Given the description of an element on the screen output the (x, y) to click on. 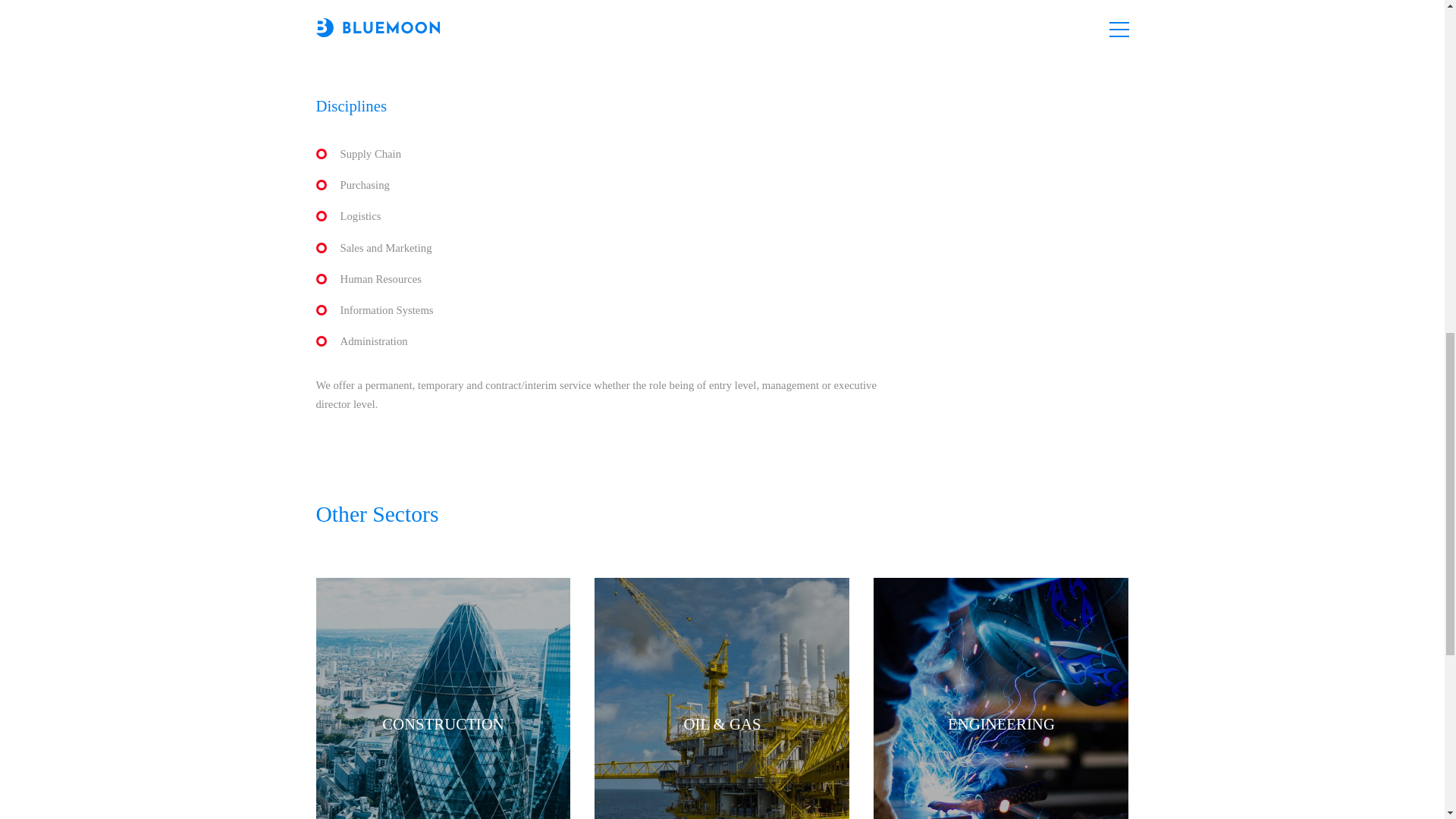
CONSTRUCTION (442, 698)
ENGINEERING (1000, 698)
